Given the description of an element on the screen output the (x, y) to click on. 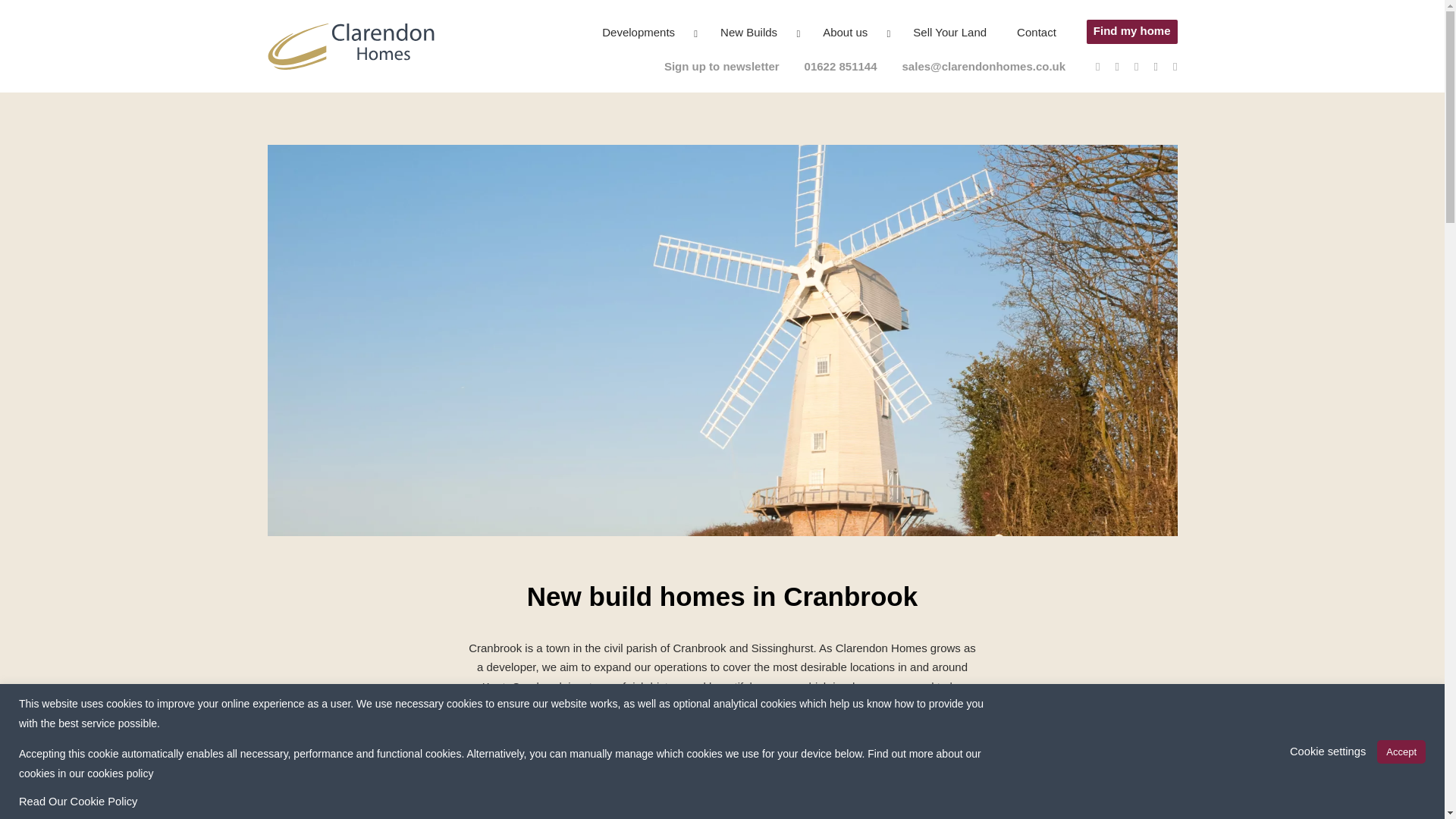
Developments (638, 31)
Sign up to newsletter (720, 65)
New Builds (748, 31)
Sign up to newsletter (720, 65)
Find my home (1131, 31)
Sell Your Land (949, 31)
01622 851144 (841, 65)
About us (844, 31)
Contact (1036, 31)
